Given the description of an element on the screen output the (x, y) to click on. 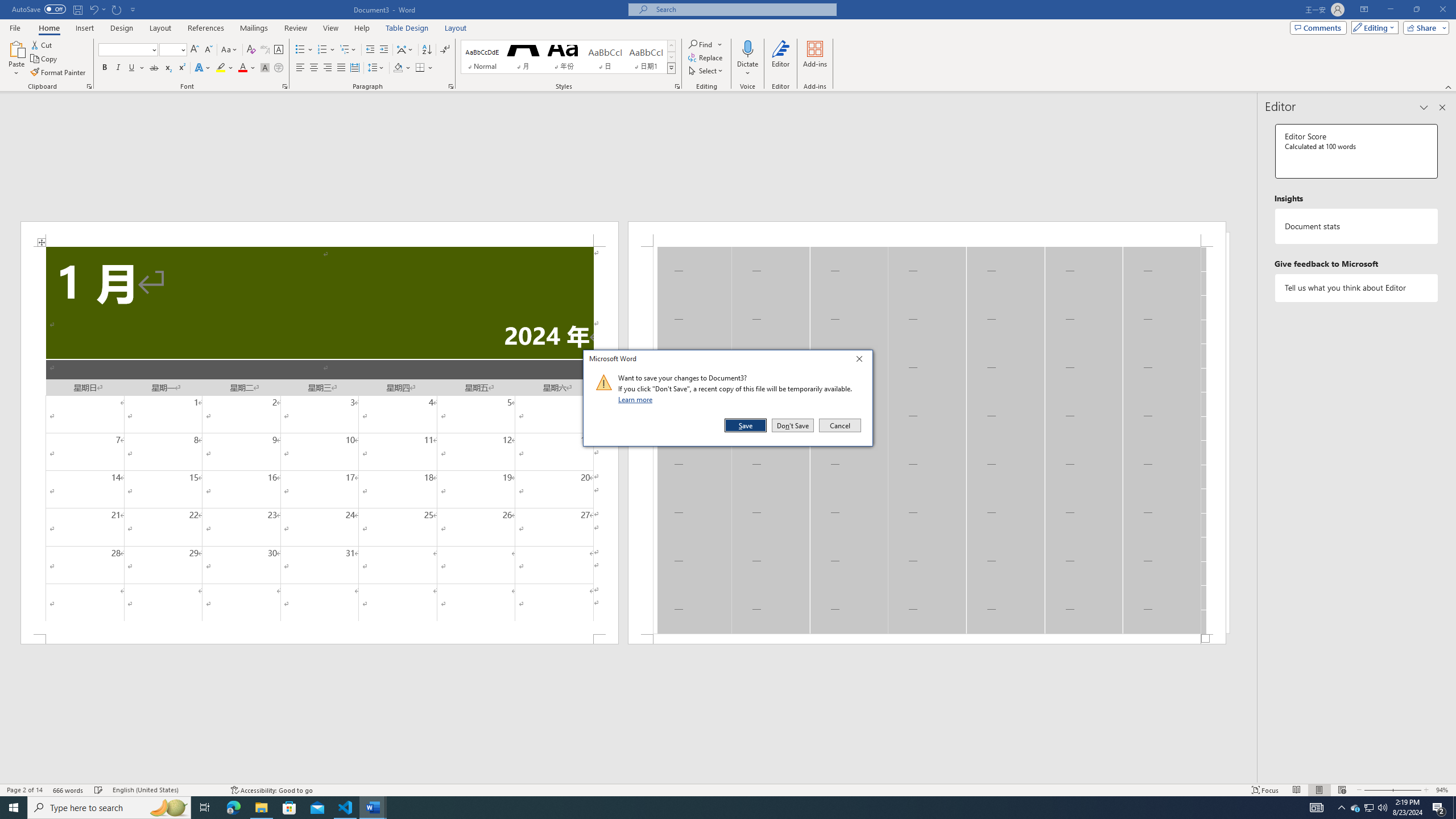
Shading (402, 67)
Change Case (229, 49)
Phonetic Guide... (264, 49)
Quick Access Toolbar (74, 9)
Language English (United States) (165, 790)
Customize Quick Access Toolbar (133, 9)
Insert (83, 28)
Collapse the Ribbon (1448, 86)
Mode (1372, 27)
Cut (42, 44)
Copy (45, 58)
Accessibility Checker Accessibility: Good to go (271, 790)
Clear Formatting (250, 49)
Microsoft Edge (233, 807)
